Given the description of an element on the screen output the (x, y) to click on. 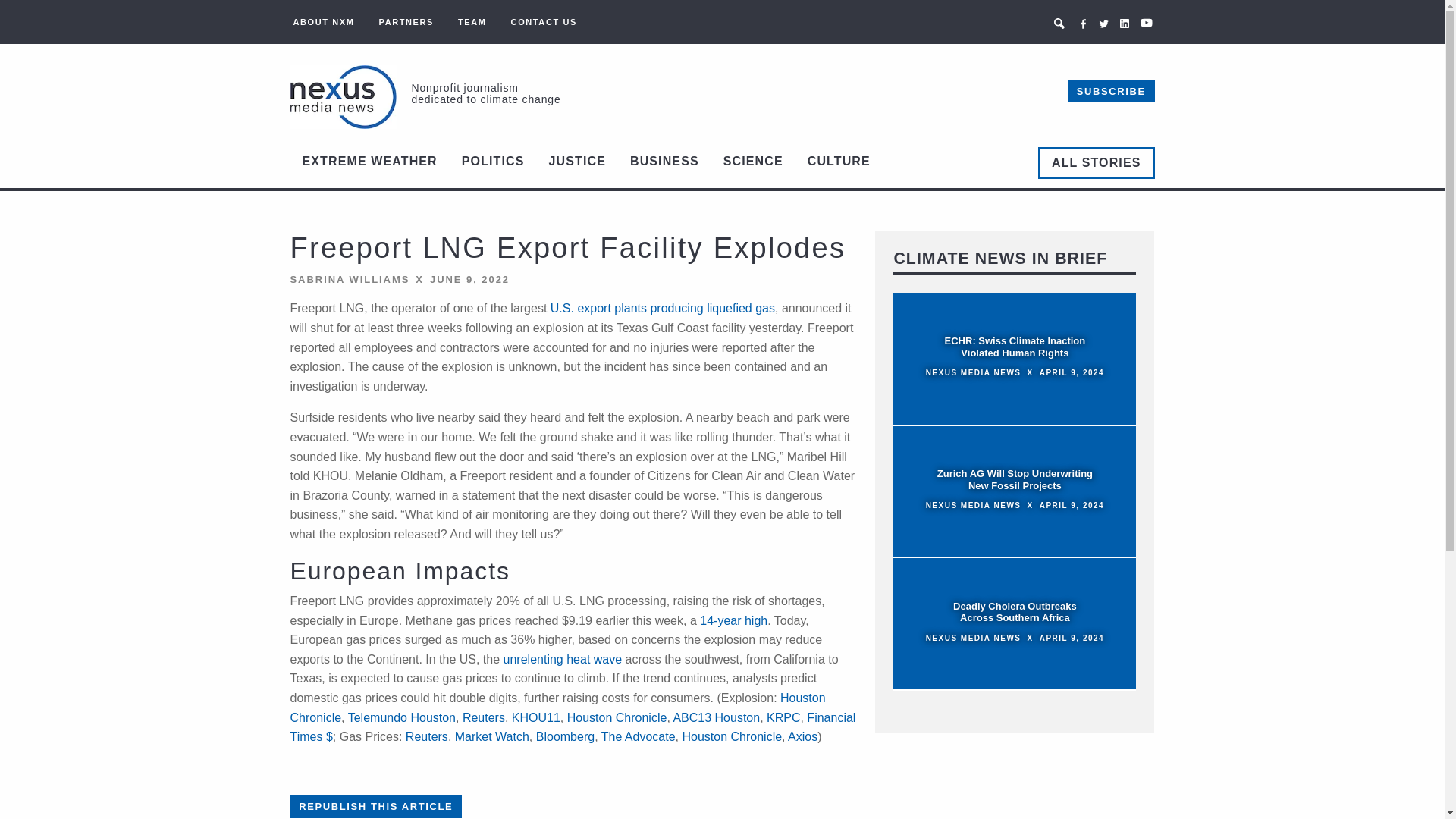
unrelenting heat wave (563, 658)
ABOUT NXM (323, 21)
Reuters (484, 717)
14-year high (733, 620)
SUBSCRIBE (1110, 90)
BUSINESS (664, 161)
ALL STORIES (1096, 162)
SCIENCE (752, 161)
JUSTICE (577, 161)
CONTACT US (544, 21)
